Given the description of an element on the screen output the (x, y) to click on. 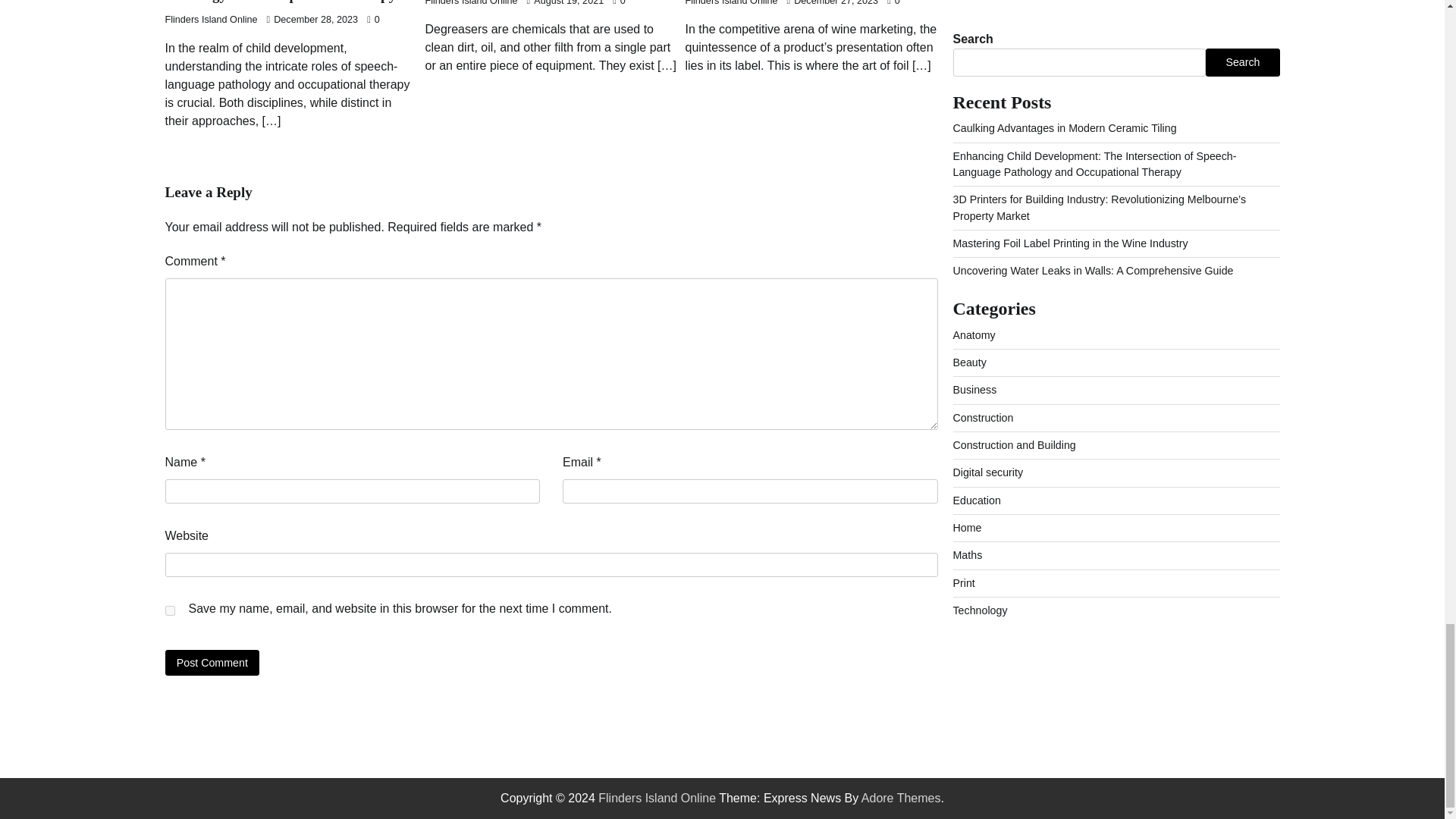
Post Comment (212, 662)
Flinders Island Online (470, 2)
Flinders Island Online (731, 2)
Flinders Island Online (211, 19)
yes (169, 610)
Post Comment (212, 662)
